Given the description of an element on the screen output the (x, y) to click on. 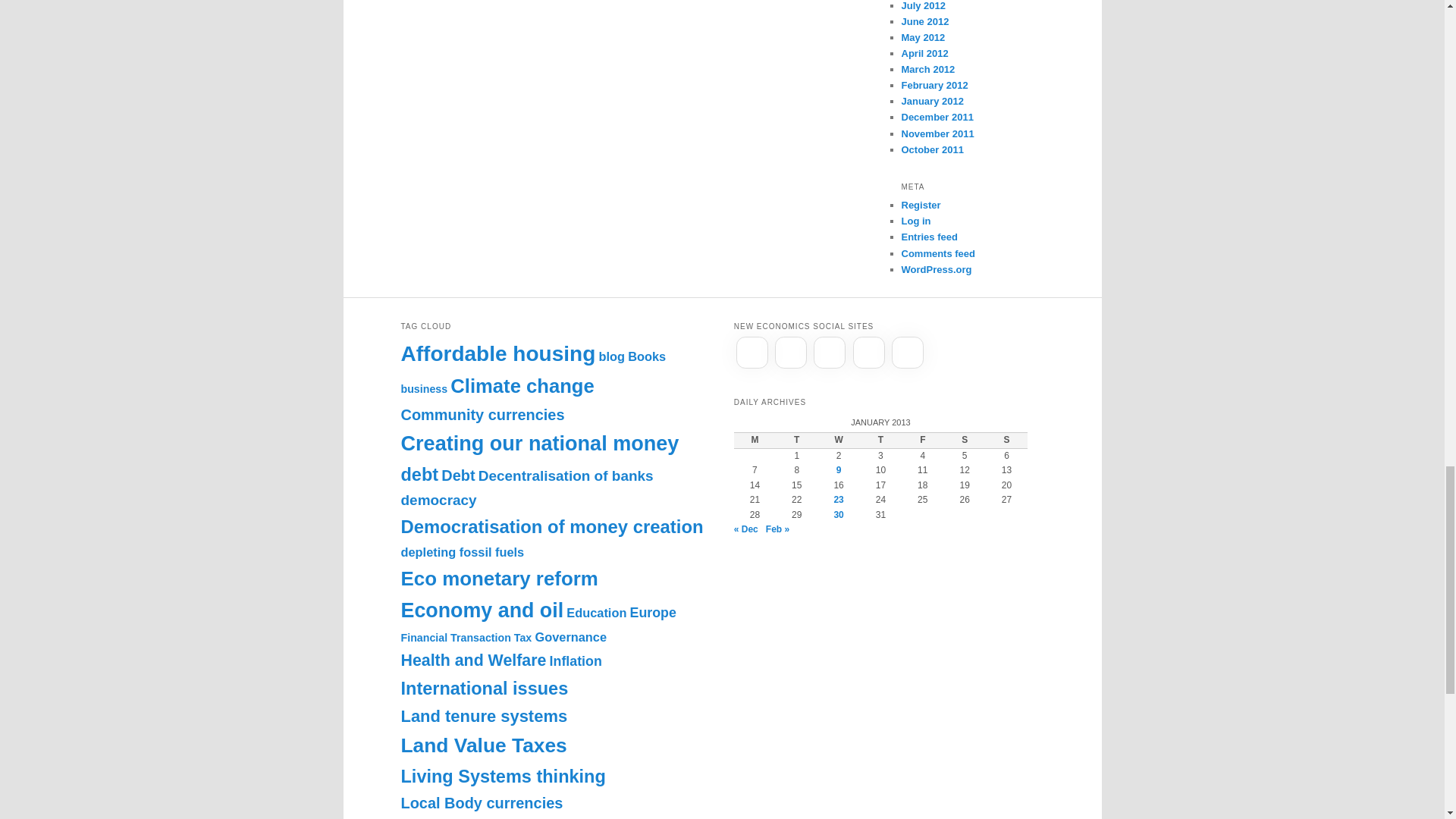
Saturday (964, 440)
Friday (922, 440)
Wednesday (837, 440)
Monday (754, 440)
Sunday (1006, 440)
Tuesday (796, 440)
Thursday (880, 440)
